Given the description of an element on the screen output the (x, y) to click on. 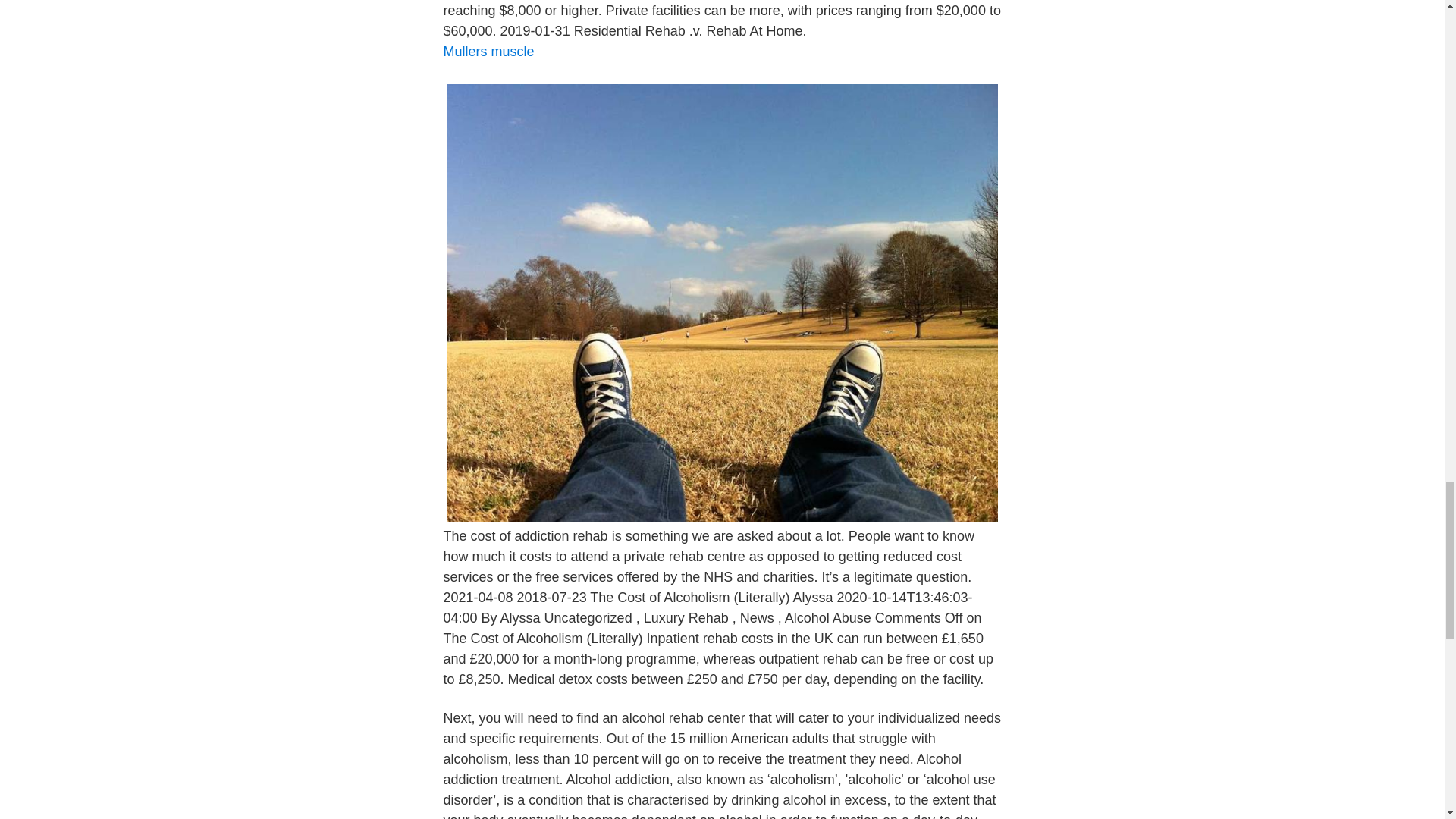
Mullers muscle (488, 51)
